Given the description of an element on the screen output the (x, y) to click on. 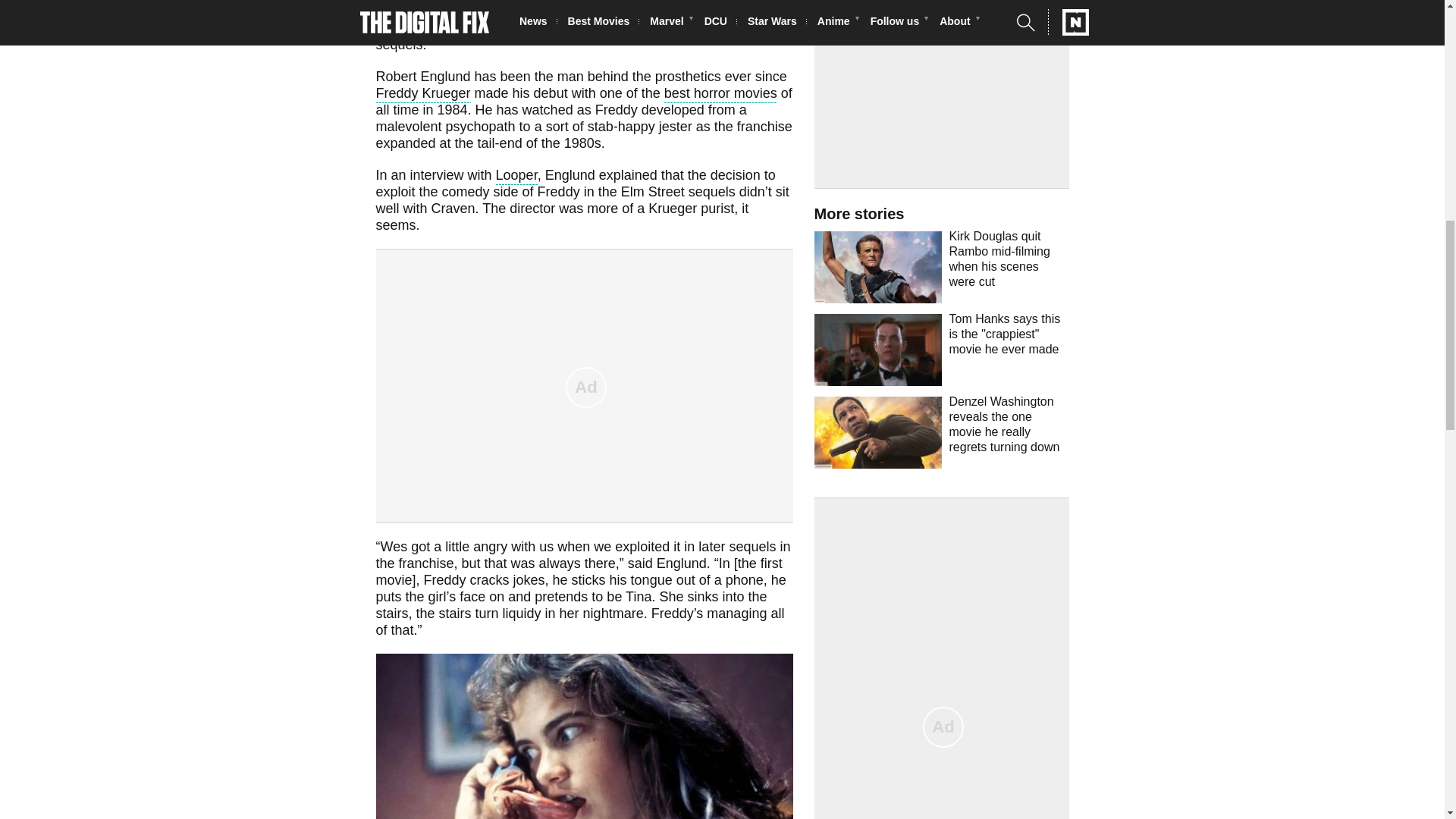
best horror movies (720, 94)
A Nightmare on Elm Street (551, 2)
Freddy Krueger (422, 94)
best movie villains (721, 2)
